Given the description of an element on the screen output the (x, y) to click on. 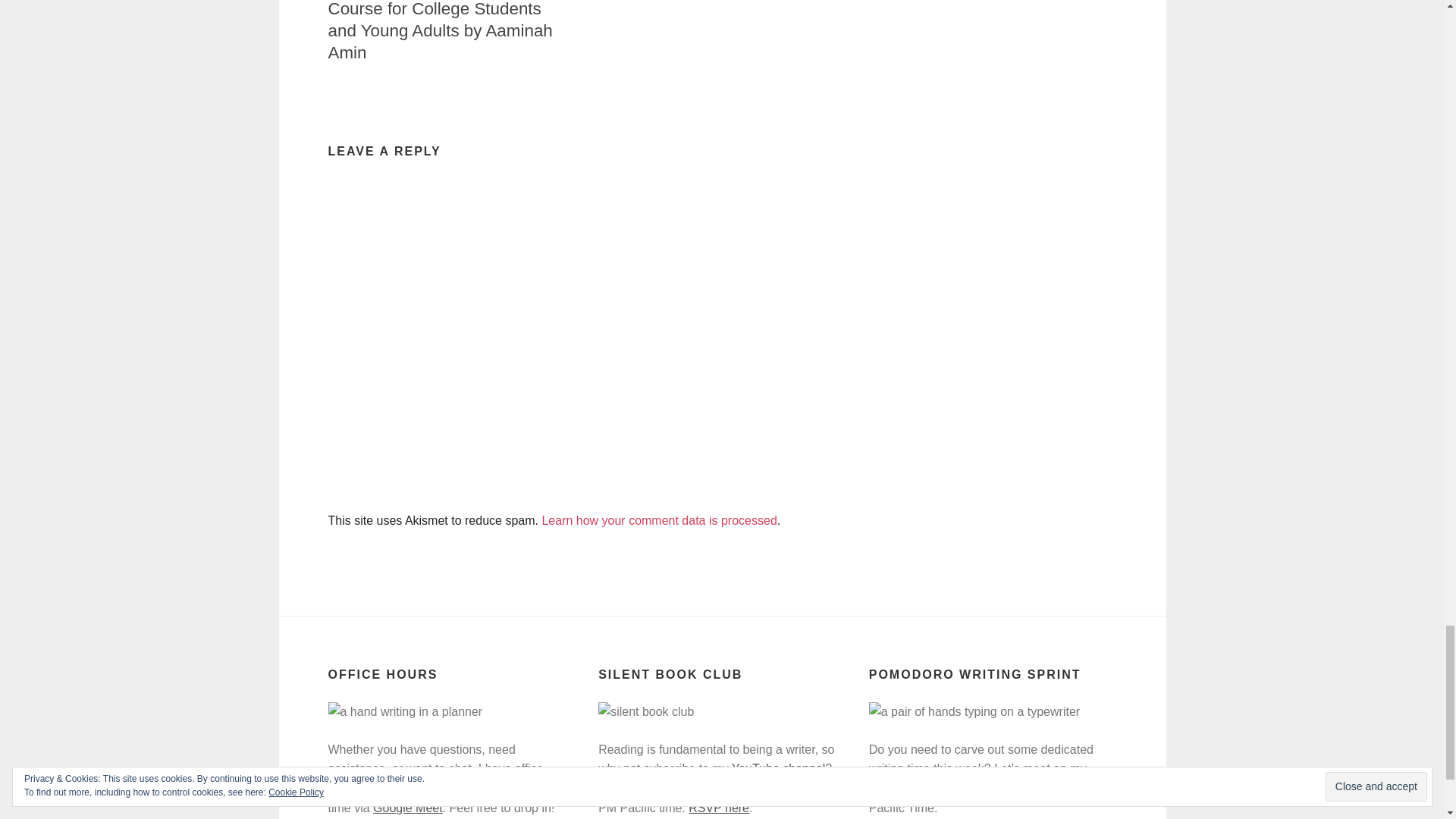
Learn how your comment data is processed (658, 520)
